Given the description of an element on the screen output the (x, y) to click on. 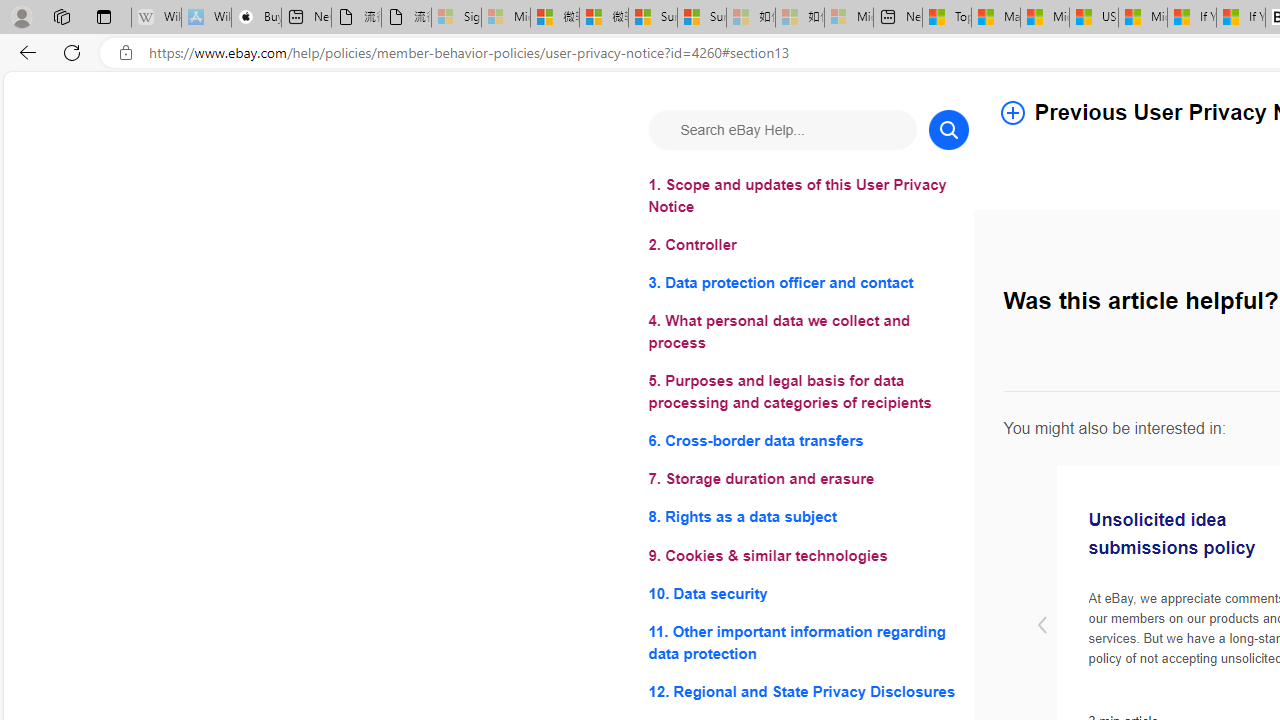
9. Cookies & similar technologies (807, 555)
8. Rights as a data subject (807, 517)
10. Data security (807, 592)
Microsoft account | Account Checkup - Sleeping (848, 17)
US Heat Deaths Soared To Record High Last Year (1093, 17)
10. Data security (807, 592)
9. Cookies & similar technologies (807, 555)
4. What personal data we collect and process (807, 332)
